Given the description of an element on the screen output the (x, y) to click on. 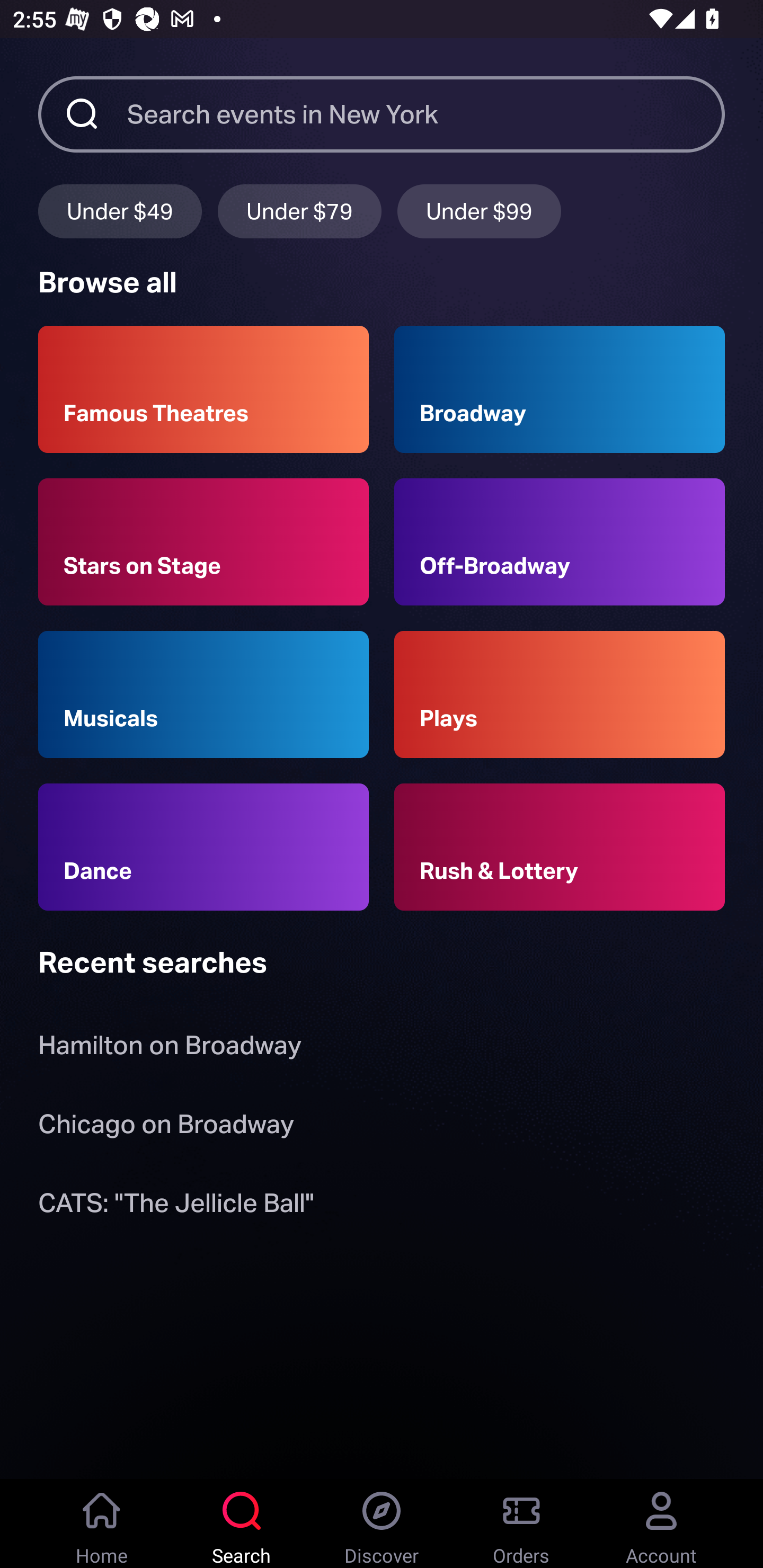
Search events in New York (425, 113)
Under $49 (120, 211)
Under $79 (299, 211)
Under $99 (478, 211)
Famous Theatres (203, 389)
Broadway (559, 389)
Stars on Stage (203, 541)
Off-Broadway (559, 541)
Musicals (203, 693)
Plays (559, 693)
Dance (203, 847)
Rush & Lottery (559, 847)
Hamilton on Broadway (169, 1048)
Chicago on Broadway (165, 1127)
CATS: "The Jellicle Ball" (176, 1205)
Home (101, 1523)
Discover (381, 1523)
Orders (521, 1523)
Account (660, 1523)
